Given the description of an element on the screen output the (x, y) to click on. 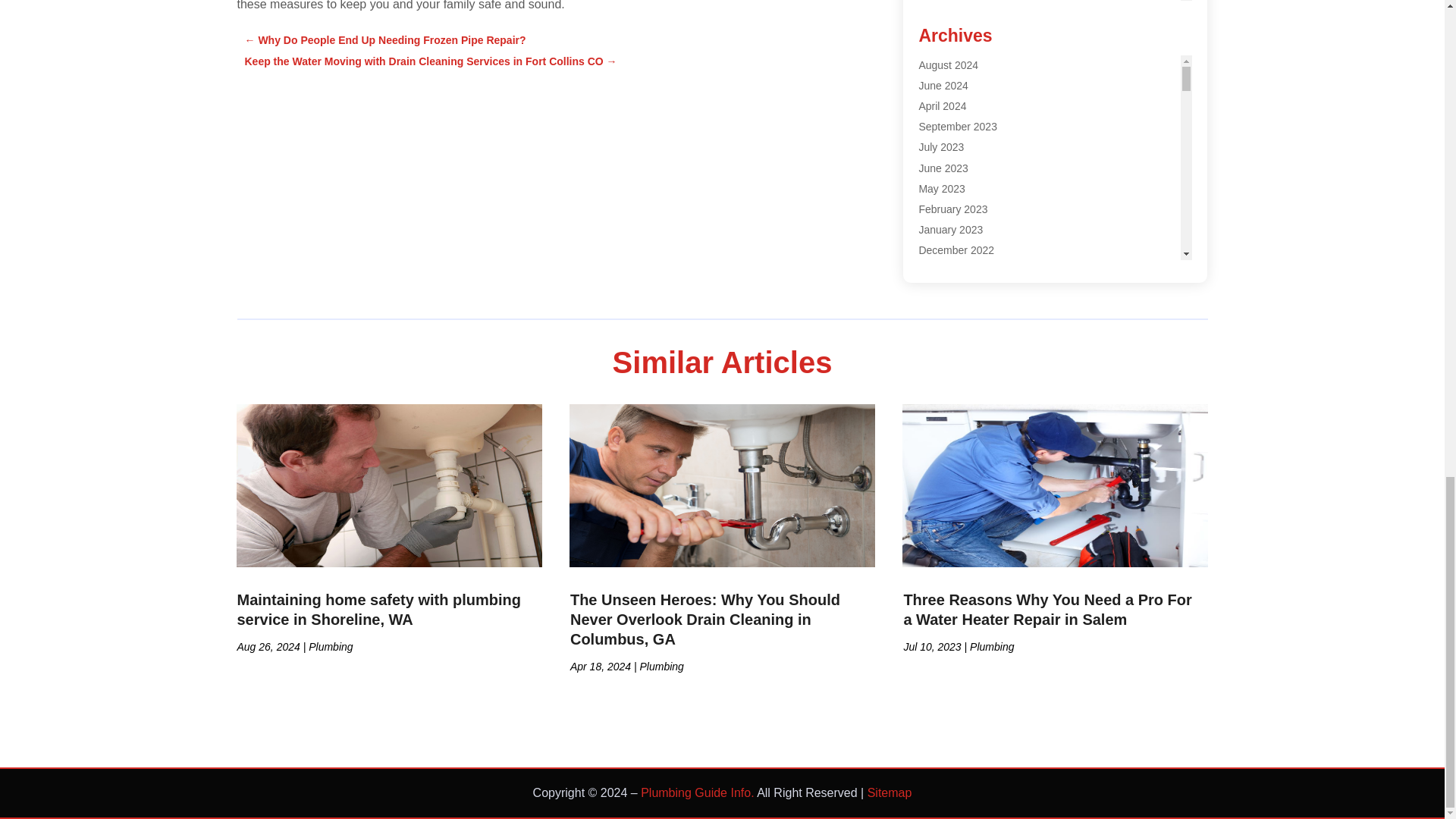
Plumbing Guide (956, 73)
Septic Tank (945, 114)
Plumbing Services (962, 93)
Plumbing Accessories (970, 52)
Plumbing (940, 32)
Plumber (938, 10)
